Given the description of an element on the screen output the (x, y) to click on. 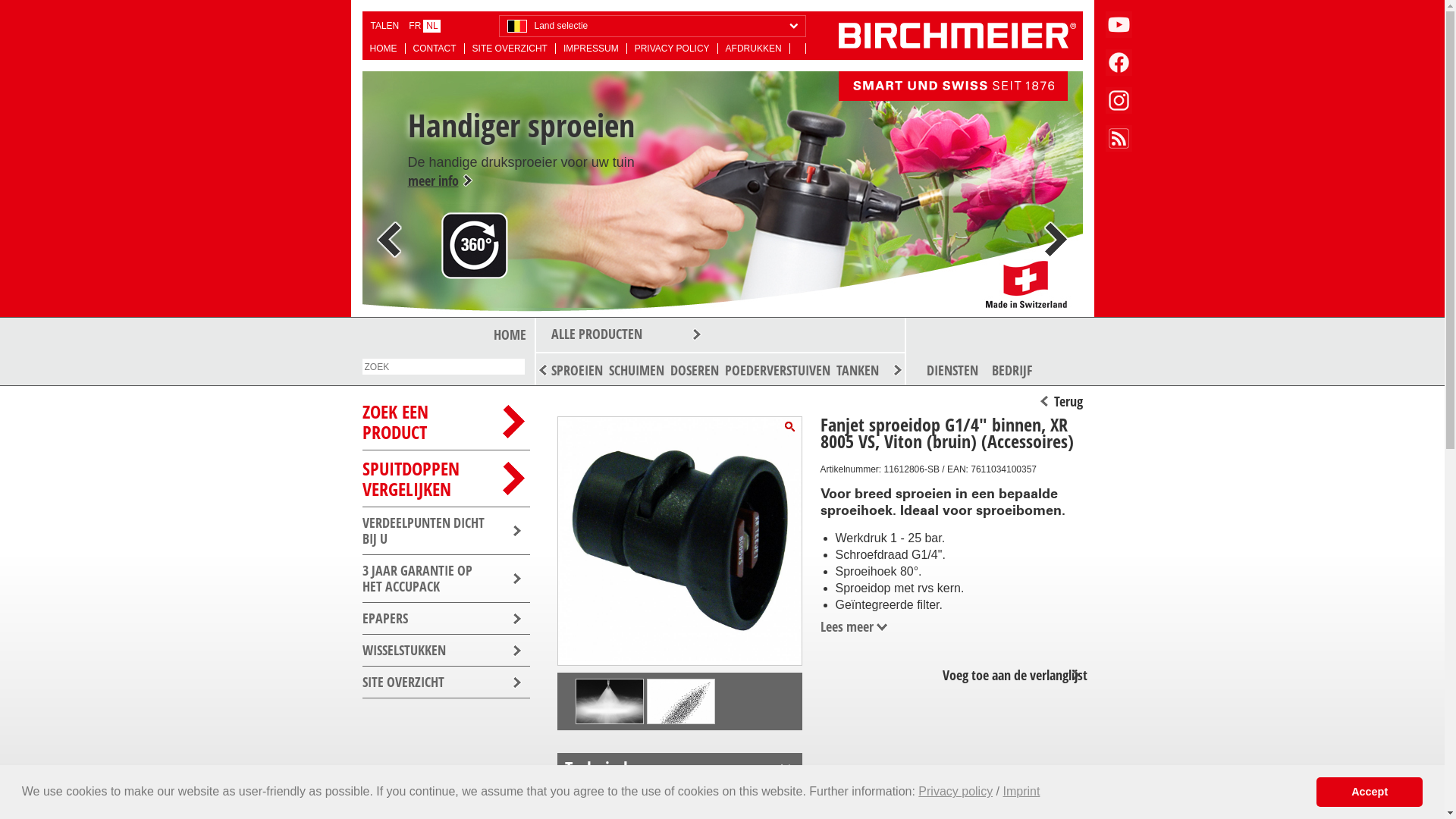
VERDEELPUNTEN DICHT BIJ U Element type: text (446, 531)
Sproeipatroon Element type: hover (609, 727)
AFDRUKKEN Element type: text (754, 48)
Sproeipatroon Element type: hover (680, 741)
meer info Element type: text (485, 270)
HOME Element type: text (507, 334)
Terug Element type: text (1060, 400)
ALLE PRODUCTEN Element type: text (719, 335)
SITE OVERZICHT Element type: text (509, 48)
Accept Element type: text (1369, 791)
DIENSTEN Element type: text (952, 369)
HOME Element type: text (383, 48)
Fanjet sproeidop G1/4 Element type: hover (788, 426)
Technische gegevens Element type: text (678, 768)
Fanjet sproeidop G1/4 Element type: hover (679, 538)
3 JAAR GARANTIE OP HET ACCUPACK Element type: text (446, 578)
NL Element type: text (431, 25)
meer info Element type: text (523, 189)
EPAPERS Element type: text (446, 618)
Lees meer Element type: text (854, 626)
SITE OVERZICHT Element type: text (446, 682)
ZOEK EEN
PRODUCT Element type: text (446, 421)
CONTACT Element type: text (434, 48)
POEDERVERSTUIVEN Element type: text (777, 369)
Privacy policy Element type: text (955, 791)
IMPRESSUM Element type: text (591, 48)
WISSELSTUKKEN Element type: text (446, 650)
SCHUIMEN Element type: text (635, 369)
TANKEN Element type: text (856, 369)
PRIVACY POLICY Element type: text (672, 48)
SPUITDOPPEN
VERGELIJKEN Element type: text (446, 478)
Imprint Element type: text (1020, 791)
GO Element type: text (13, 7)
DOSEREN Element type: text (694, 369)
SPROEIEN Element type: text (576, 369)
BEDRIJF Element type: text (1011, 369)
Voeg toe aan de verlanglijst Element type: text (1010, 674)
FR Element type: text (414, 25)
